Given the description of an element on the screen output the (x, y) to click on. 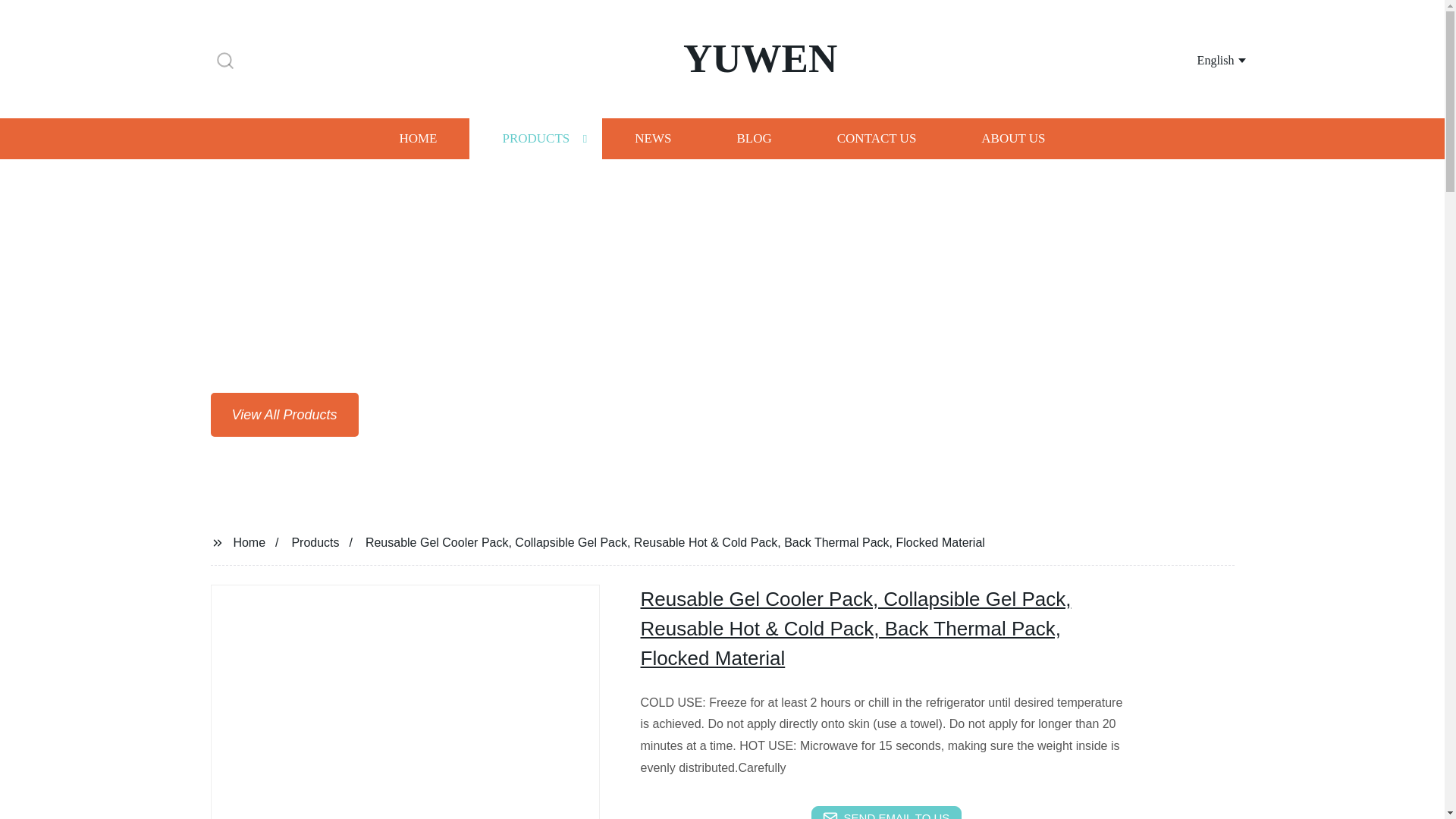
English (1203, 59)
SEND EMAIL TO US (885, 812)
ABOUT US (1013, 137)
Home (248, 541)
Products (315, 541)
CONTACT US (877, 137)
HOME (417, 137)
English (1203, 59)
